Given the description of an element on the screen output the (x, y) to click on. 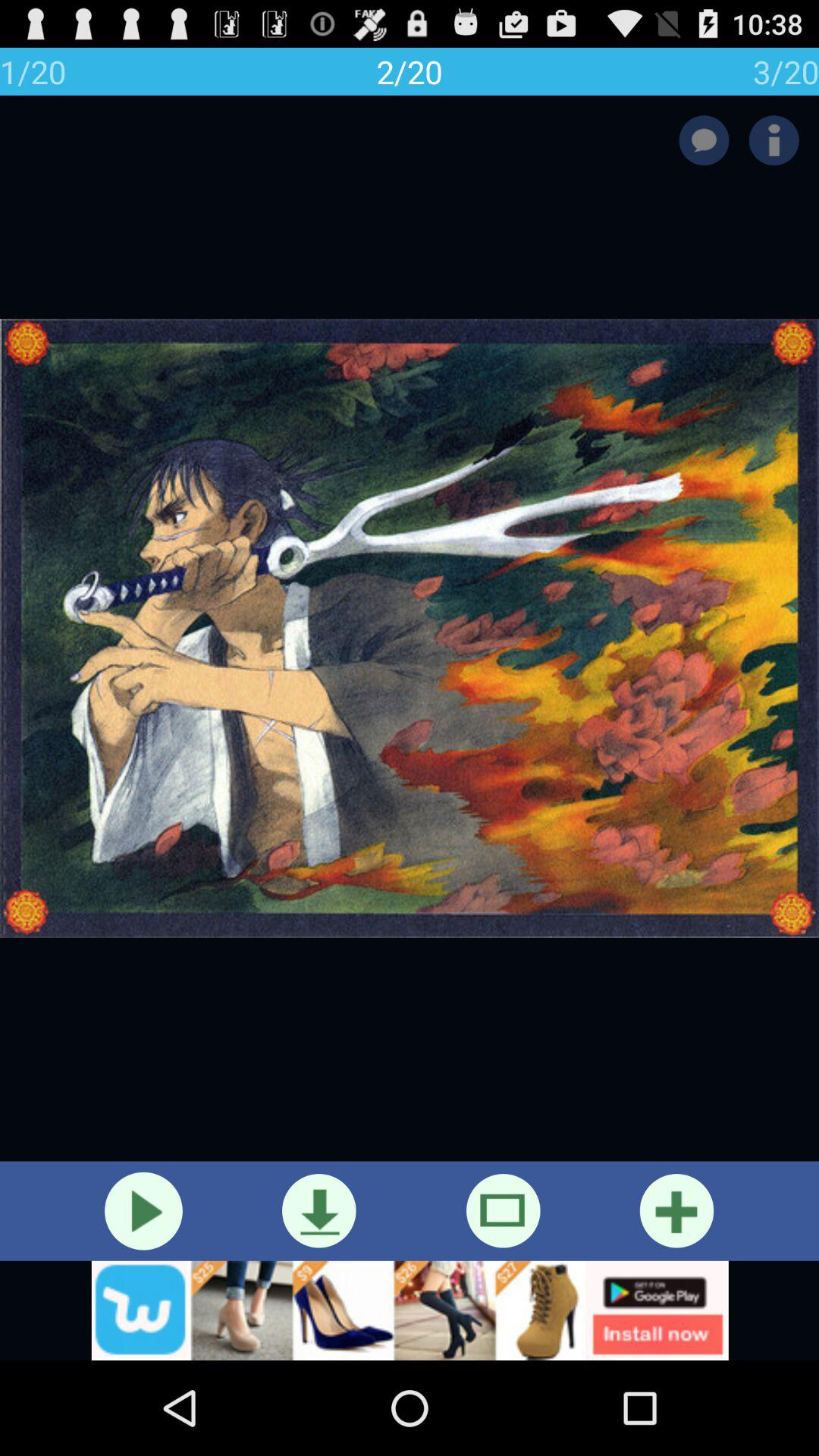
leave a comment (704, 140)
